Given the description of an element on the screen output the (x, y) to click on. 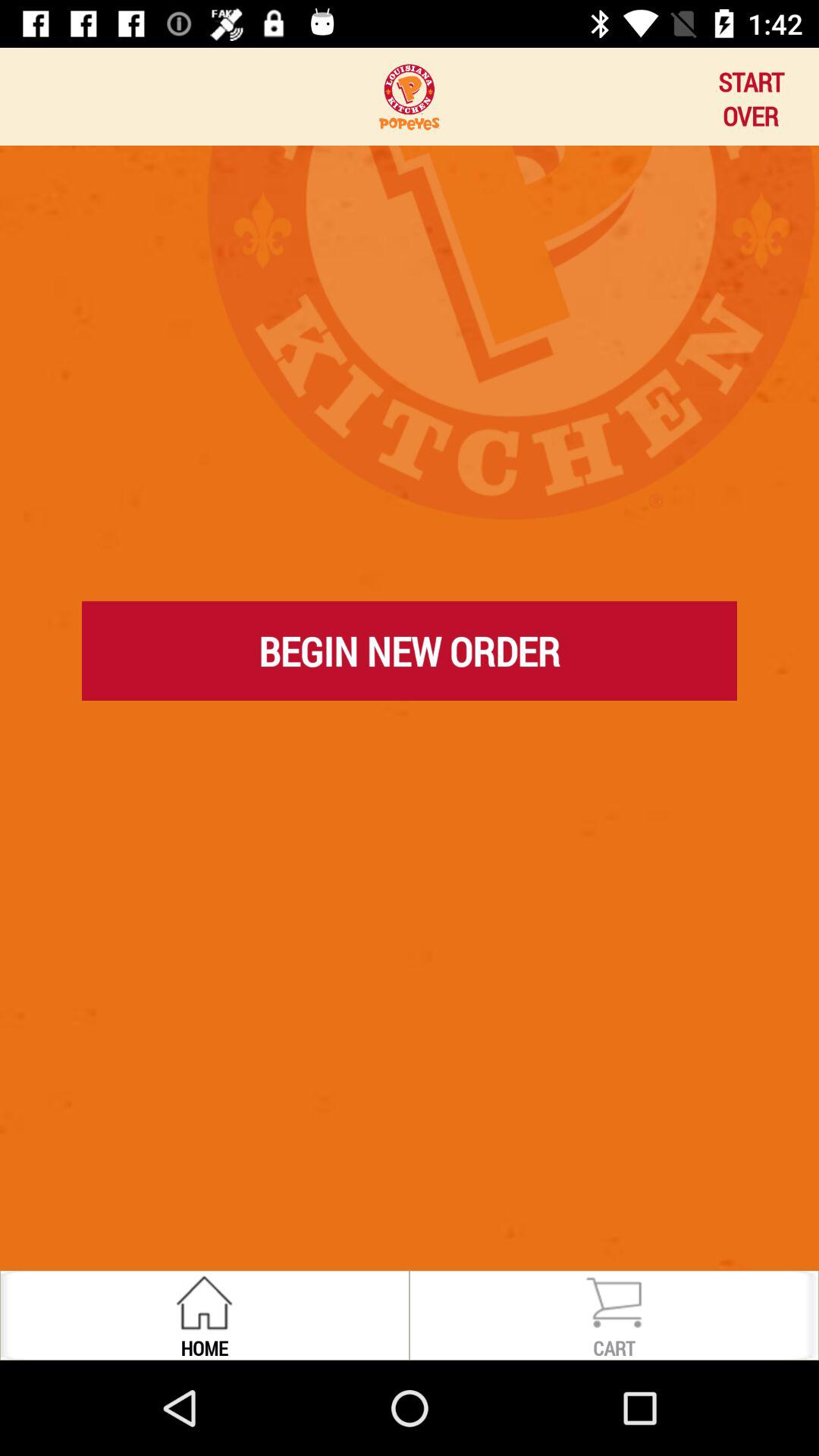
scroll until the home icon (204, 1347)
